Given the description of an element on the screen output the (x, y) to click on. 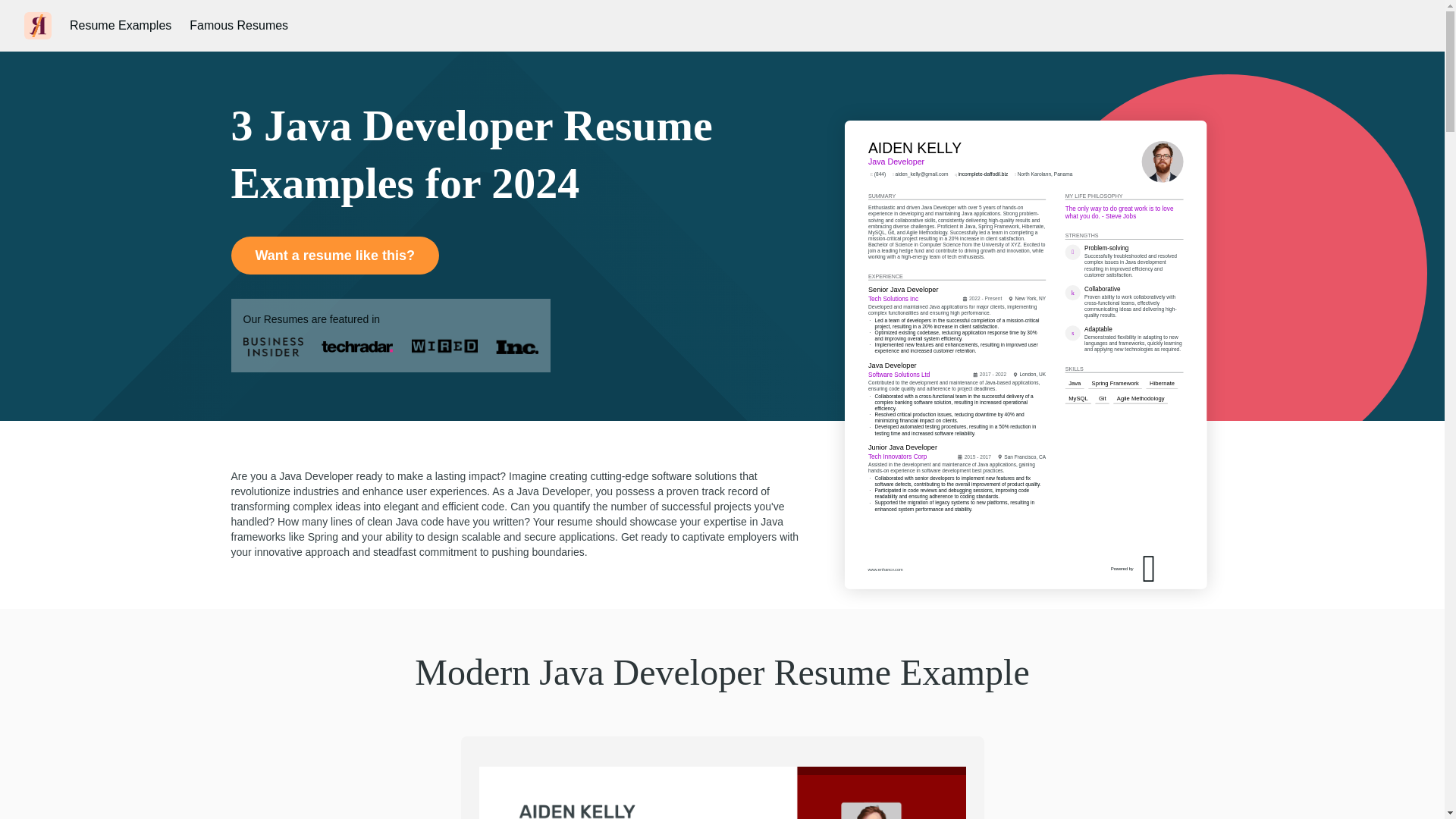
Want a resume like this? (334, 255)
Famous Resumes (238, 26)
incomplete-daffodil.biz (1011, 209)
Resume Examples (120, 26)
Powered by (1183, 592)
